Given the description of an element on the screen output the (x, y) to click on. 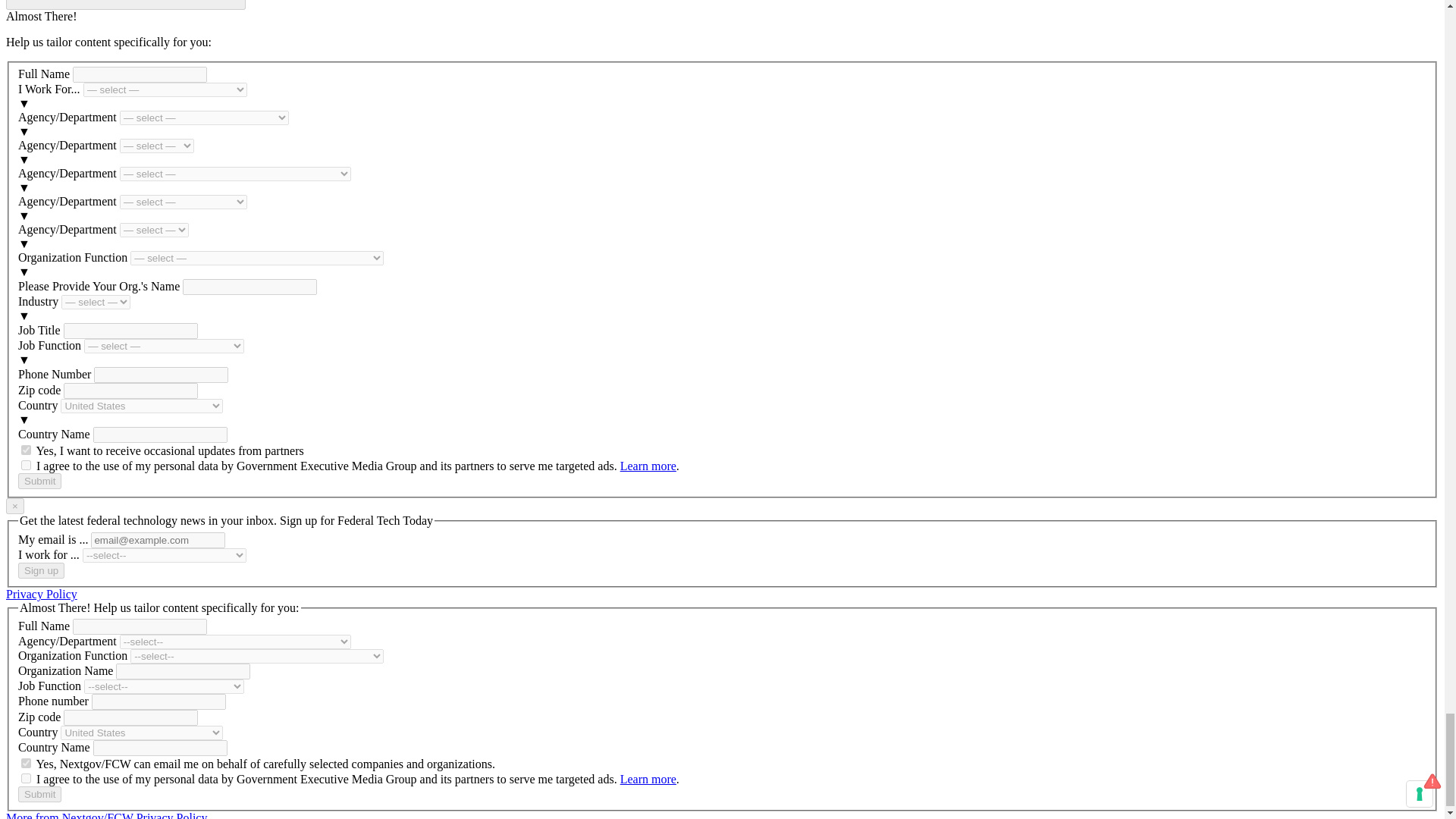
on (25, 777)
on (25, 465)
on (25, 450)
on (25, 763)
Submit (39, 480)
